Given the description of an element on the screen output the (x, y) to click on. 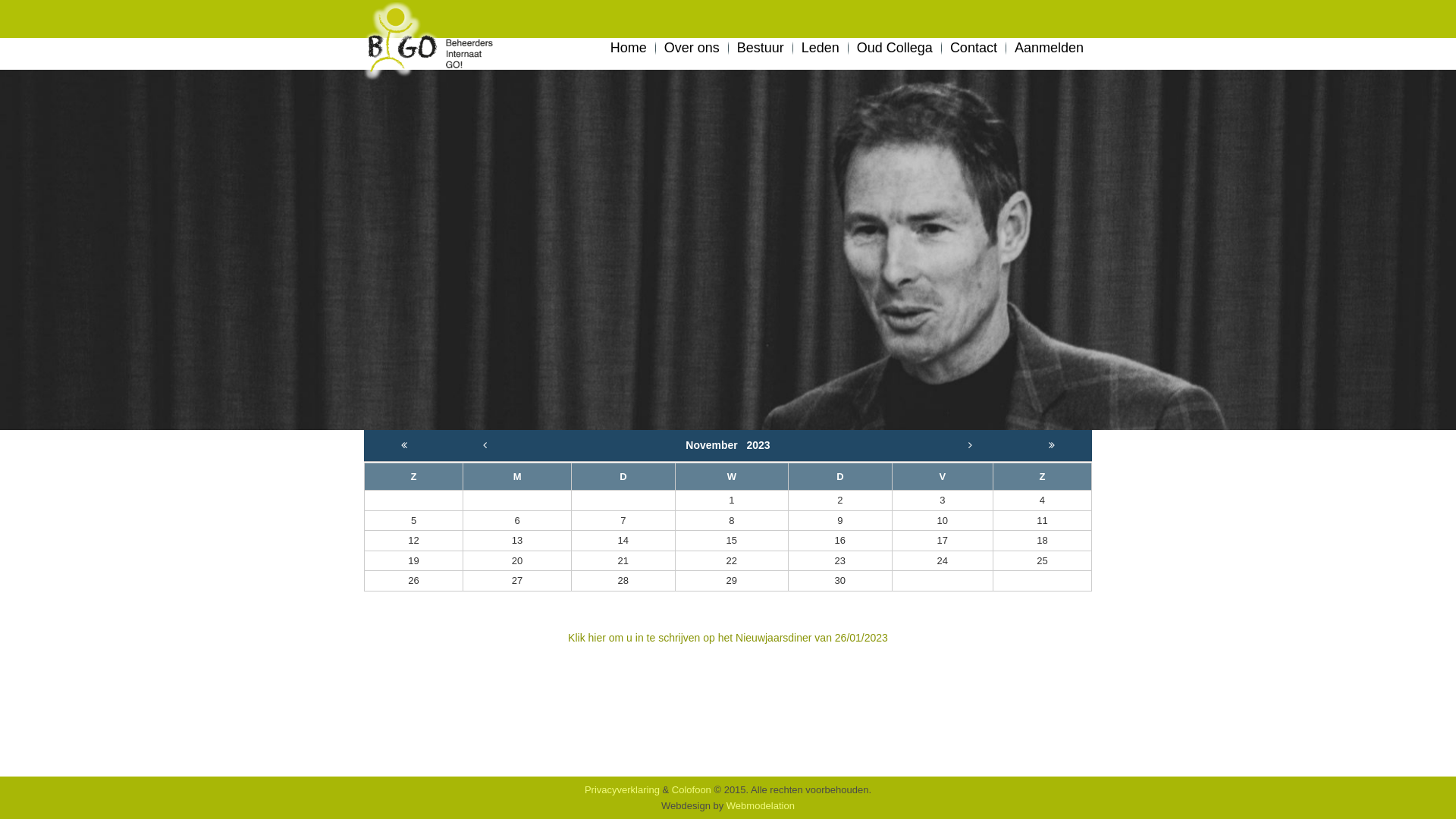
Aanmelden Element type: text (1048, 47)
Bestuur Element type: text (760, 47)
Leden Element type: text (820, 47)
Webmodelation Element type: text (760, 805)
2023 Element type: text (757, 445)
Contact Element type: text (973, 47)
November   Element type: text (715, 445)
Privacyverklaring Element type: text (621, 789)
Oud Collega Element type: text (894, 47)
Colofoon Element type: text (691, 789)
Over ons Element type: text (691, 47)
Home Element type: text (628, 47)
